Given the description of an element on the screen output the (x, y) to click on. 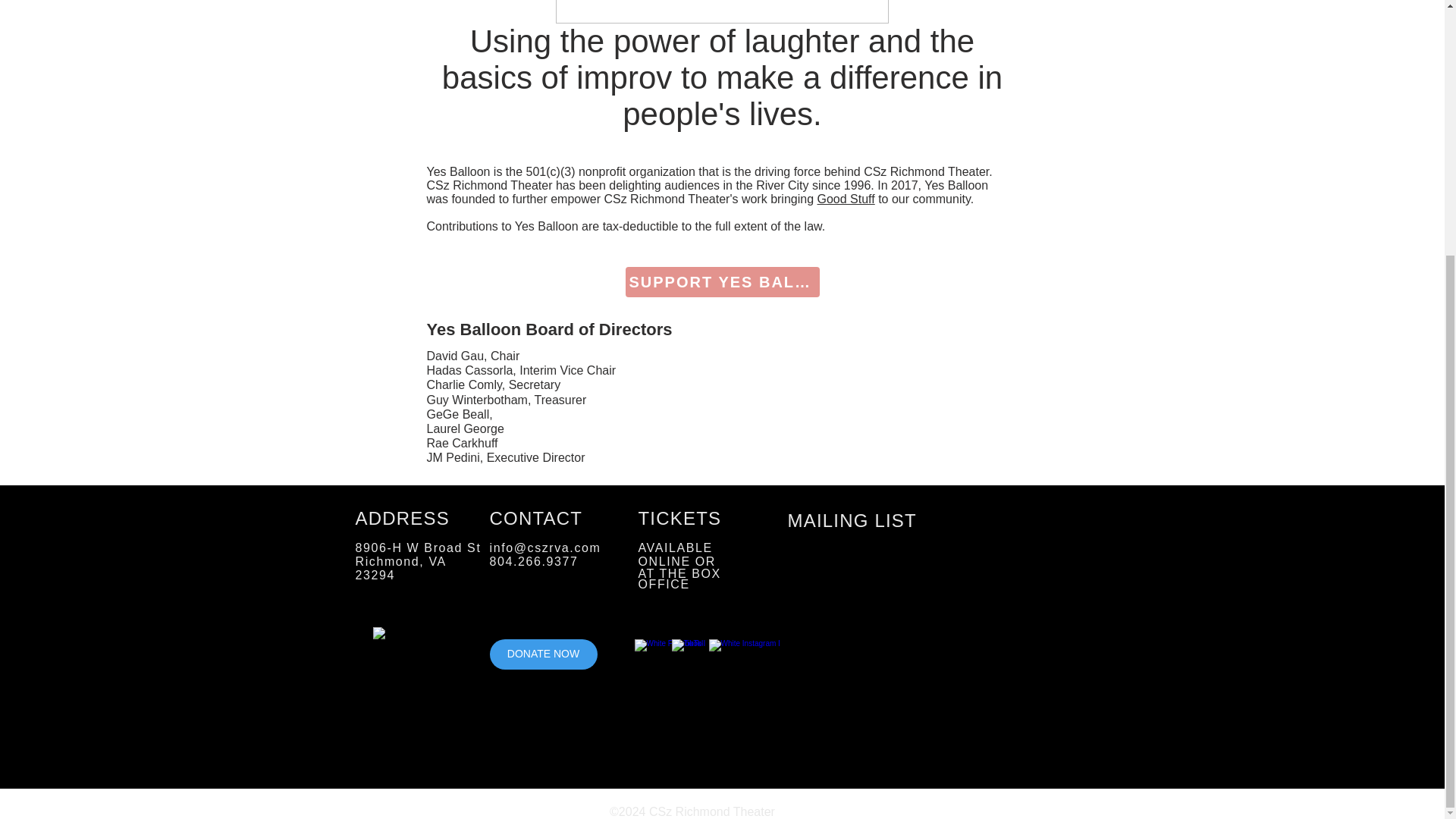
DONATE NOW (542, 654)
Good Stuff (845, 198)
SUPPORT YES BALLOON (721, 281)
